Given the description of an element on the screen output the (x, y) to click on. 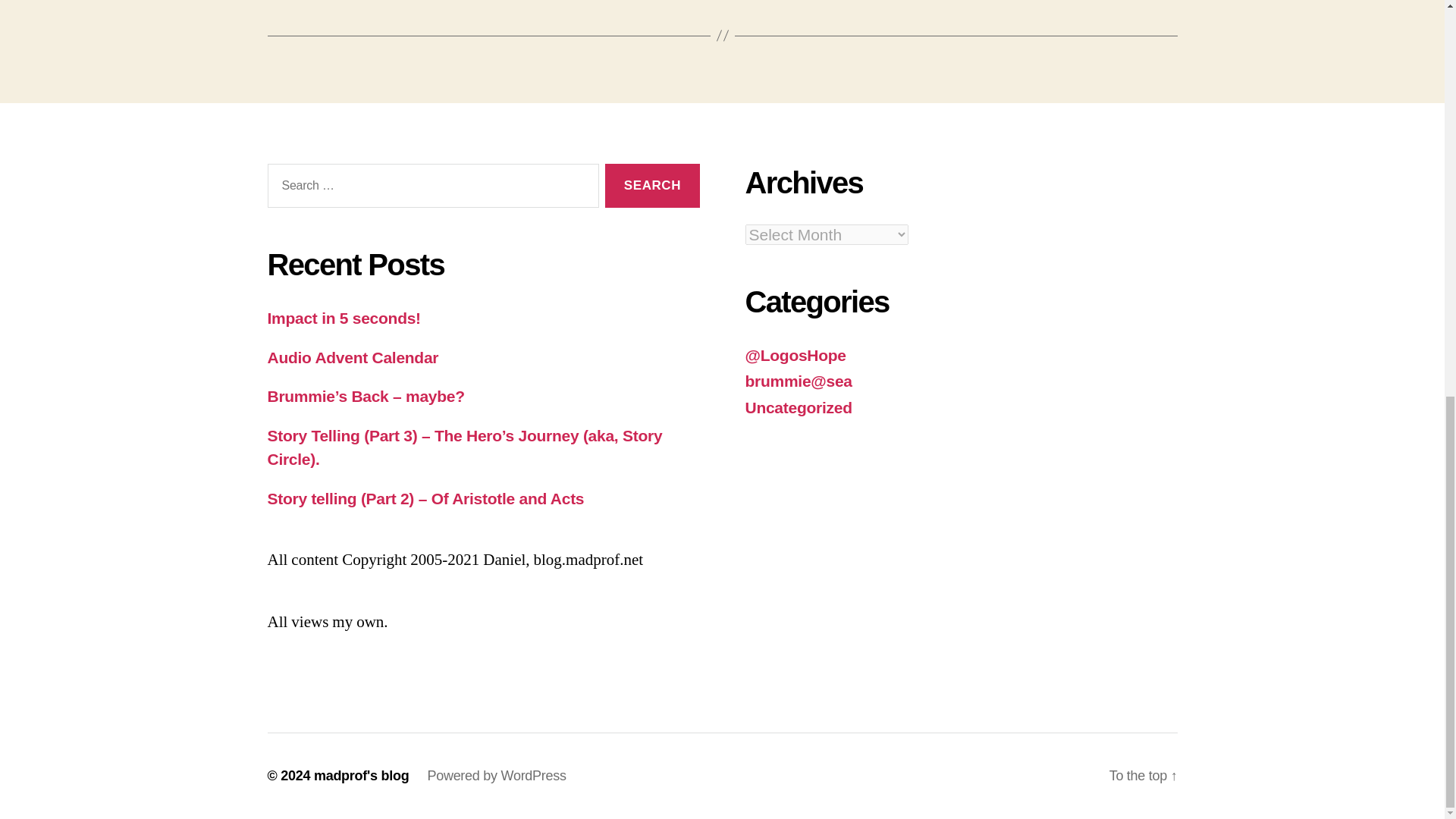
Search (651, 185)
Search (651, 185)
Uncategorized (797, 407)
madprof's blog (361, 775)
Powered by WordPress (496, 775)
Impact in 5 seconds! (343, 317)
Audio Advent Calendar (352, 357)
Search (651, 185)
